Given the description of an element on the screen output the (x, y) to click on. 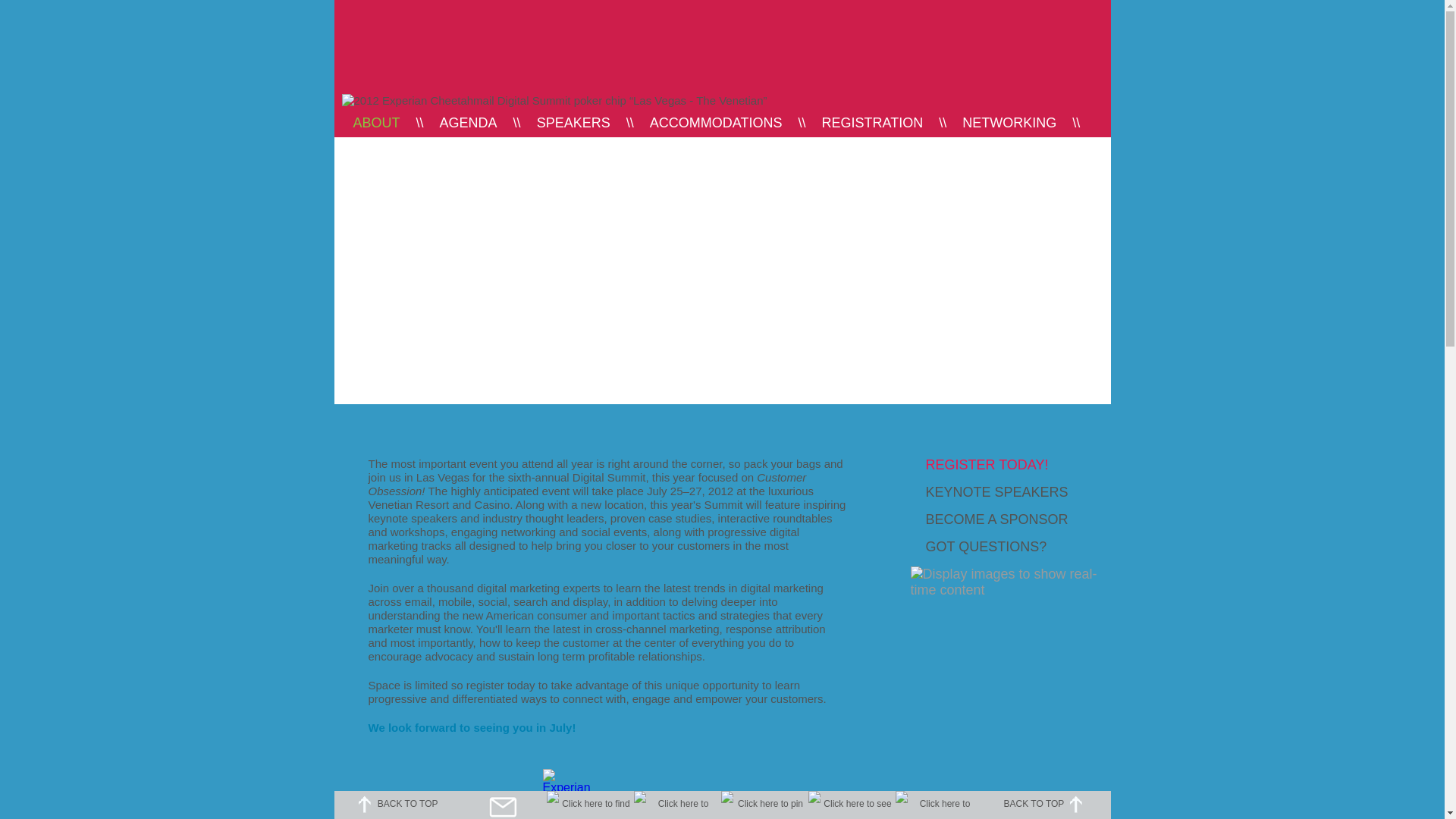
AGENDA Element type: text (468, 122)
BECOME A SPONSOR Element type: text (996, 519)
REGISTER TODAY! Element type: text (986, 464)
NETWORKING Element type: text (1009, 122)
BACK TO TOP Element type: text (1045, 803)
SPEAKERS Element type: text (573, 122)
Click here to go back to the top Element type: hover (364, 803)
REGISTRATION Element type: text (871, 122)
SPONSORS Element type: text (378, 155)
ACCOMMODATIONS Element type: text (715, 122)
ABOUT Element type: text (376, 122)
GOT QUESTIONS? Element type: text (985, 546)
Experian Marketing Services Element type: text (440, 56)
BACK TO TOP Element type: text (395, 803)
KEYNOTE SPEAKERS Element type: text (996, 491)
Click here to go back to the top Element type: hover (1075, 803)
